Given the description of an element on the screen output the (x, y) to click on. 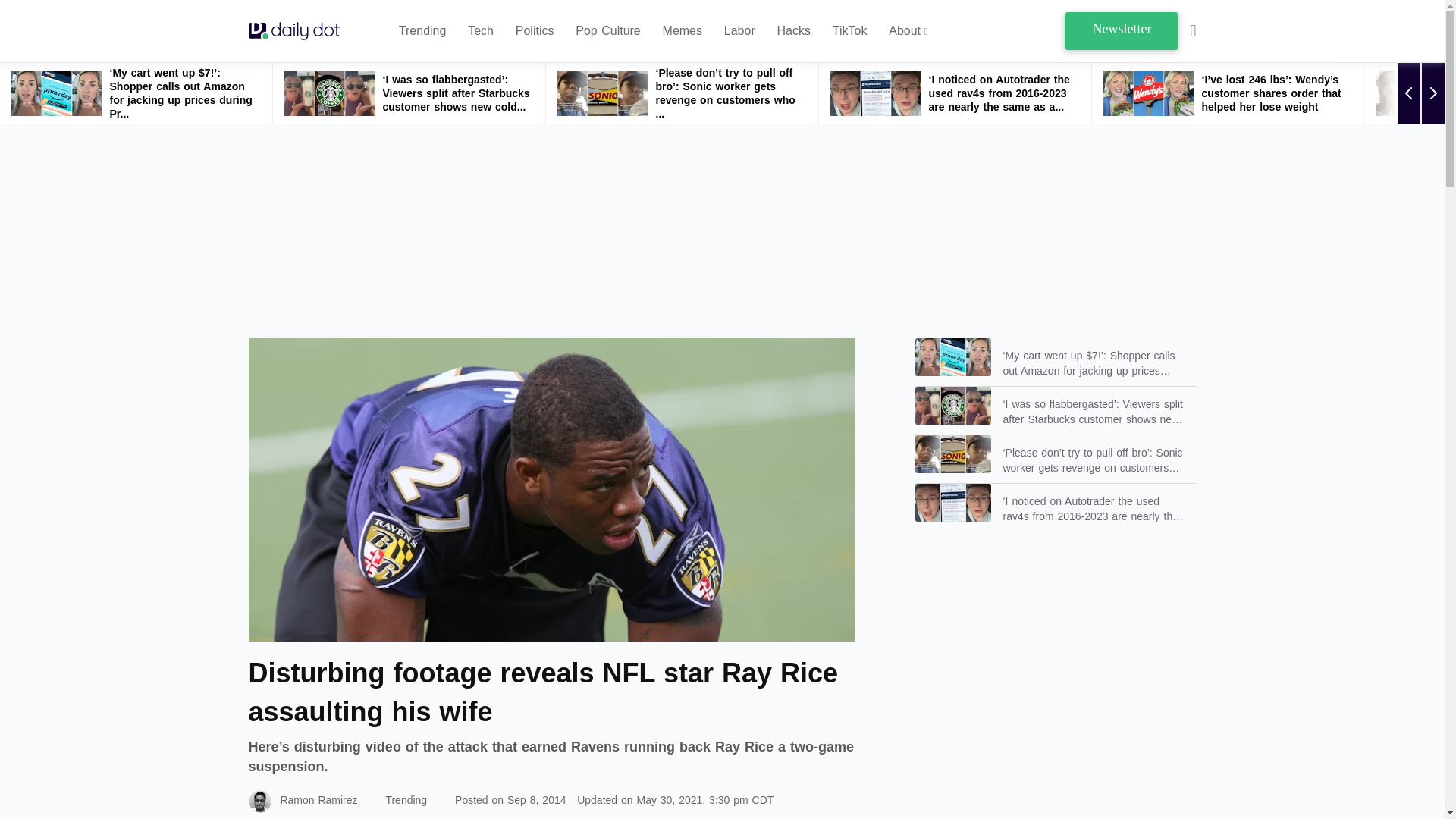
Memes (681, 31)
About (908, 31)
Politics (534, 31)
Tech (480, 31)
Hacks (793, 31)
Labor (739, 31)
TikTok (849, 31)
Pop Culture (607, 31)
Trending (422, 31)
Newsletter (1120, 30)
